Given the description of an element on the screen output the (x, y) to click on. 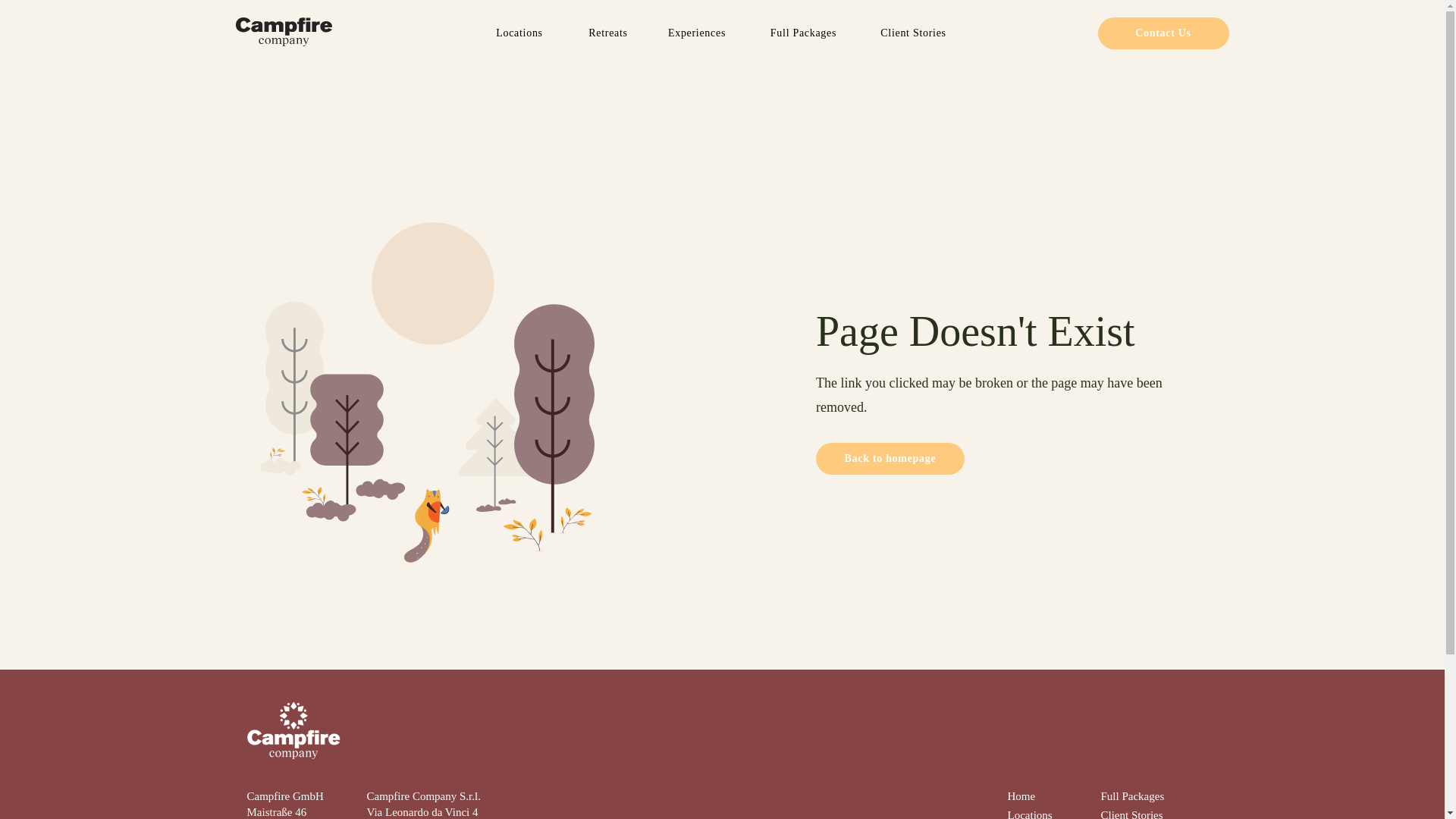
Full Packages (802, 32)
Retreats (607, 32)
Locations (1029, 814)
Full Packages (1132, 796)
Back to homepage (889, 459)
Home (1021, 796)
Client Stories (1131, 814)
Client Stories (912, 32)
Contact Us (1162, 33)
Locations (519, 32)
